Given the description of an element on the screen output the (x, y) to click on. 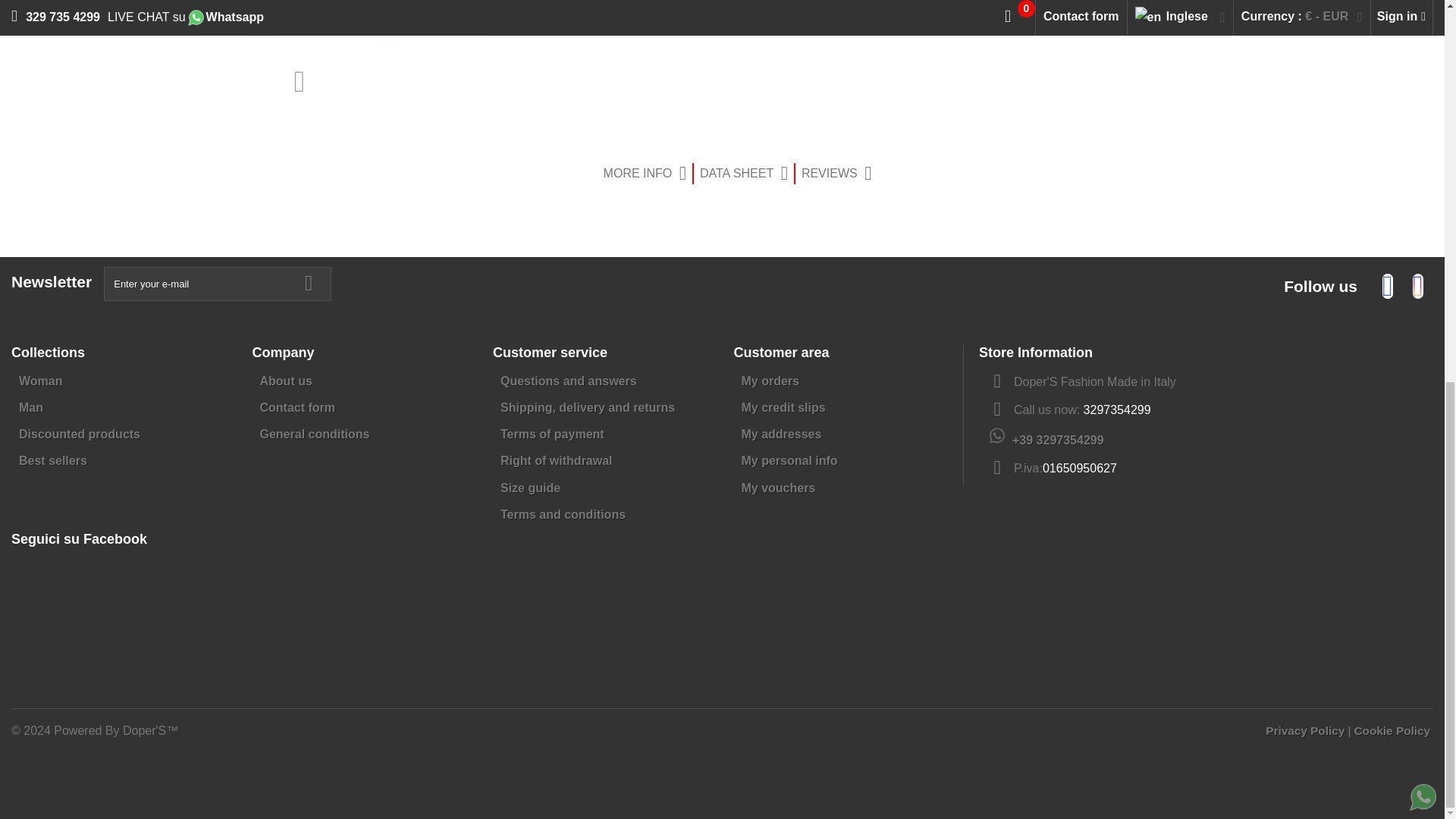
Enter your e-mail (217, 283)
